Given the description of an element on the screen output the (x, y) to click on. 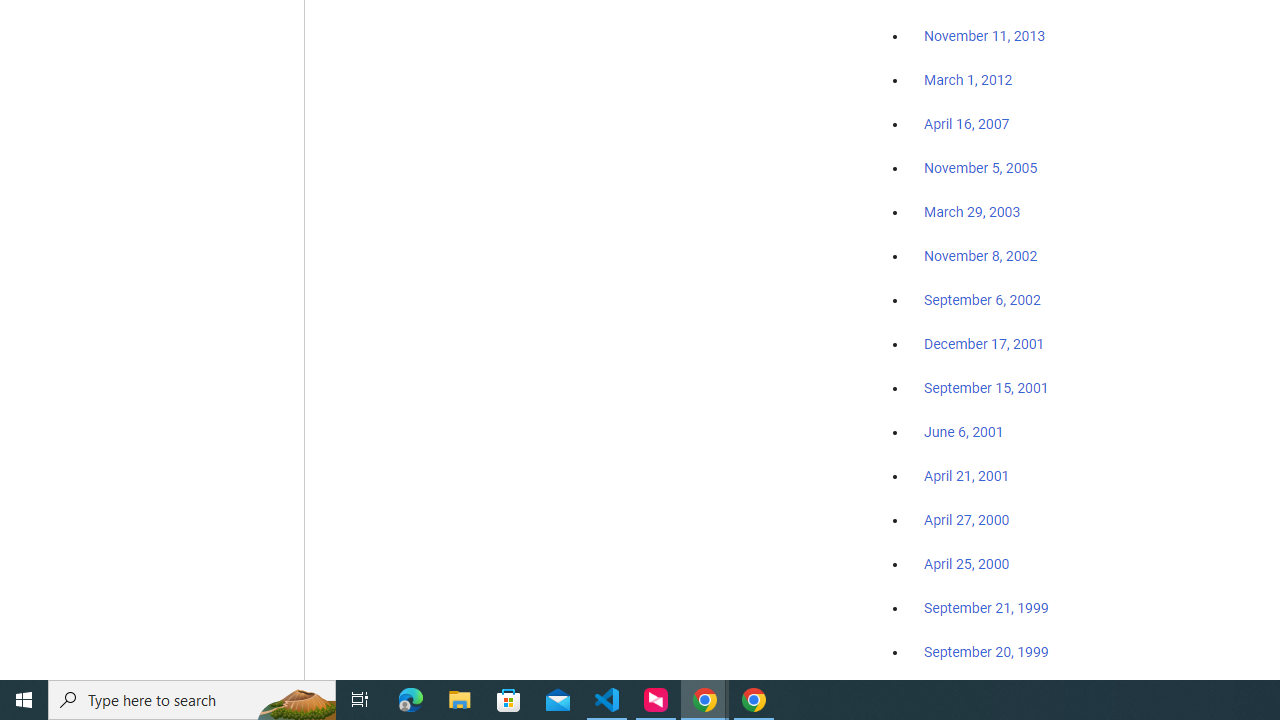
March 29, 2003 (972, 212)
November 5, 2005 (981, 168)
April 25, 2000 (966, 564)
April 16, 2007 (966, 124)
September 21, 1999 (986, 608)
September 15, 2001 (986, 387)
November 8, 2002 (981, 255)
April 27, 2000 (966, 520)
September 20, 1999 (986, 651)
April 21, 2001 (966, 476)
March 1, 2012 (968, 81)
December 17, 2001 (984, 343)
September 6, 2002 (982, 299)
June 6, 2001 (963, 431)
November 11, 2013 (984, 37)
